Given the description of an element on the screen output the (x, y) to click on. 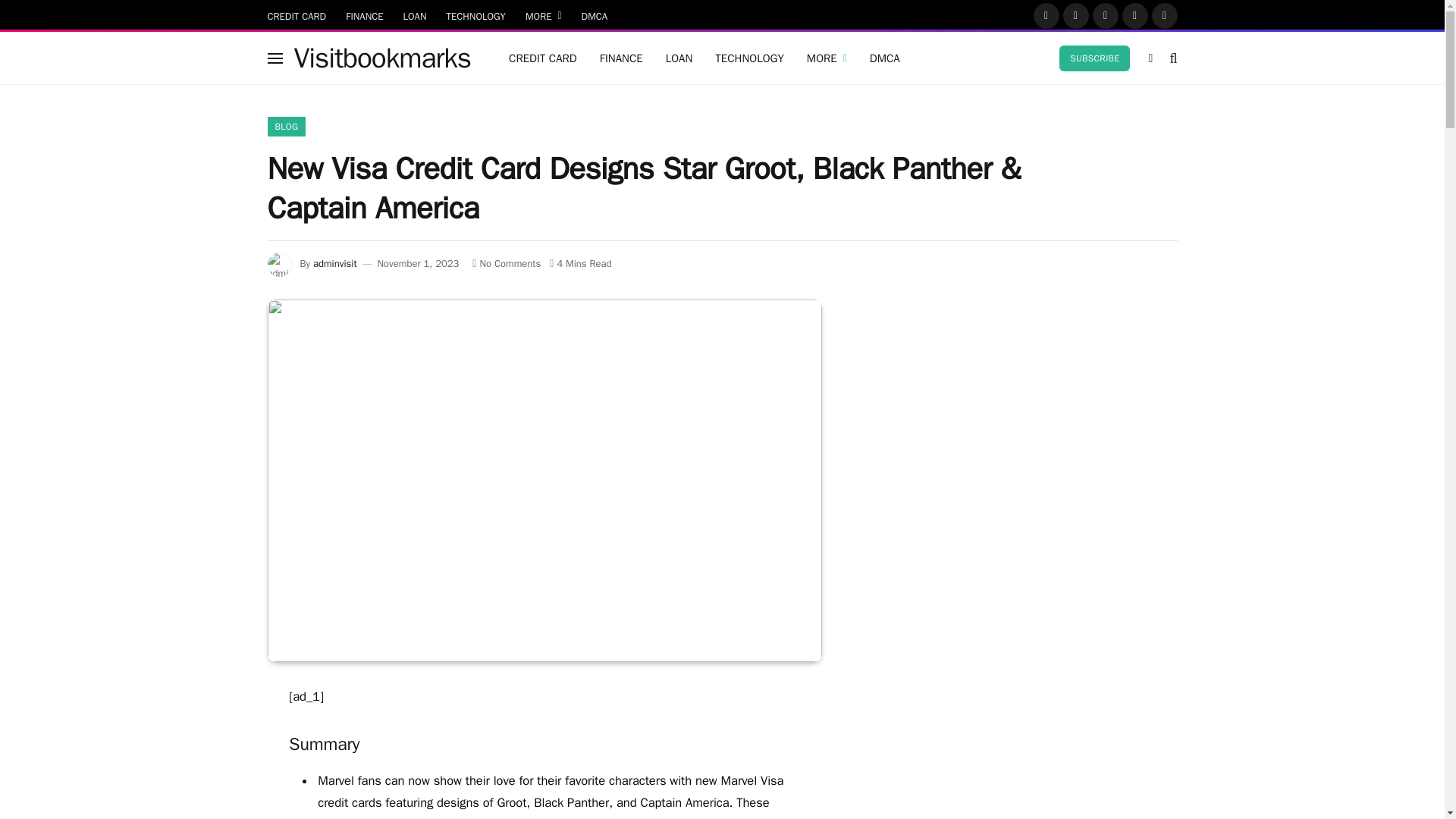
Facebook (1046, 15)
Posts by adminvisit (334, 263)
Switch to Dark Design - easier on eyes. (1149, 57)
Visitbookmarks (382, 57)
CREDIT CARD (296, 15)
Pinterest (1135, 15)
DMCA (594, 15)
FINANCE (620, 57)
MORE (826, 57)
LOAN (678, 57)
CREDIT CARD (542, 57)
LOAN (414, 15)
FINANCE (364, 15)
MORE (543, 15)
Visitbookmarks (382, 57)
